Given the description of an element on the screen output the (x, y) to click on. 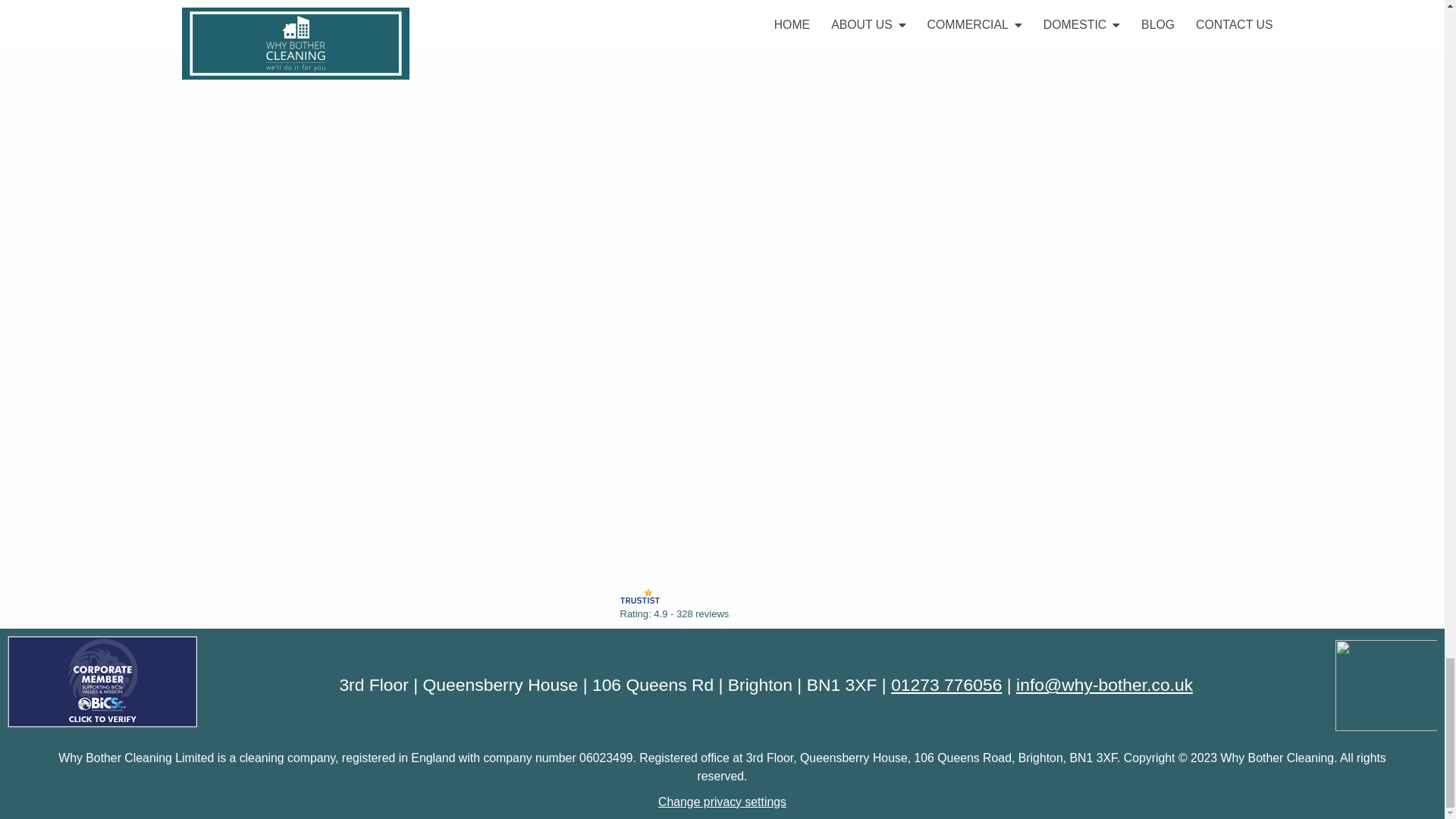
Change privacy settings (722, 801)
01273 776056 (946, 684)
Rating: 4.9 - 328 reviews (674, 613)
